Given the description of an element on the screen output the (x, y) to click on. 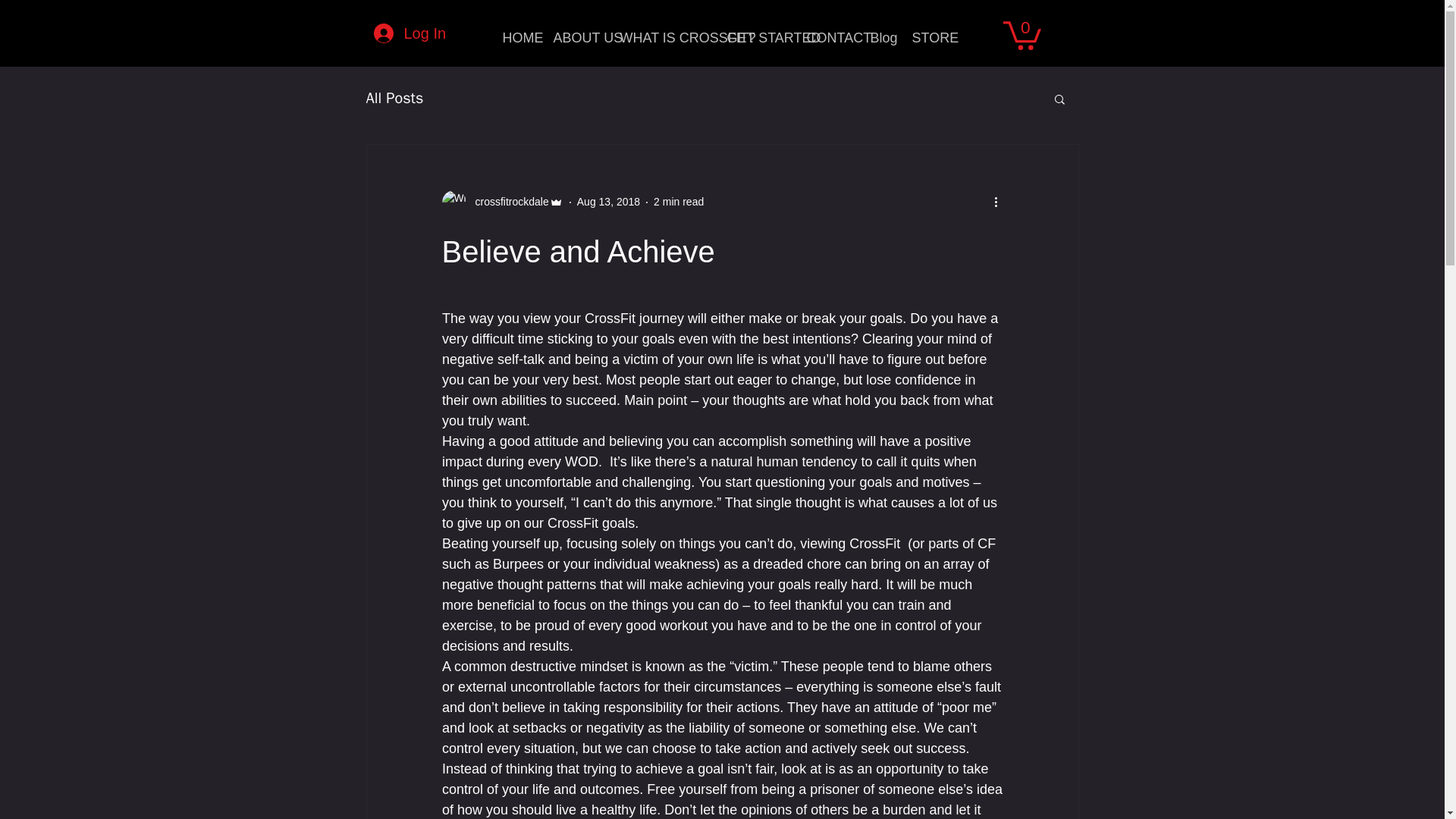
WHAT IS CROSSFIT? (661, 38)
crossfitrockdale (506, 201)
Aug 13, 2018 (608, 201)
STORE (926, 38)
CONTACT (826, 38)
0 (1022, 33)
crossfitrockdale (501, 202)
ABOUT US (574, 38)
Log In (407, 33)
All Posts (394, 97)
